Given the description of an element on the screen output the (x, y) to click on. 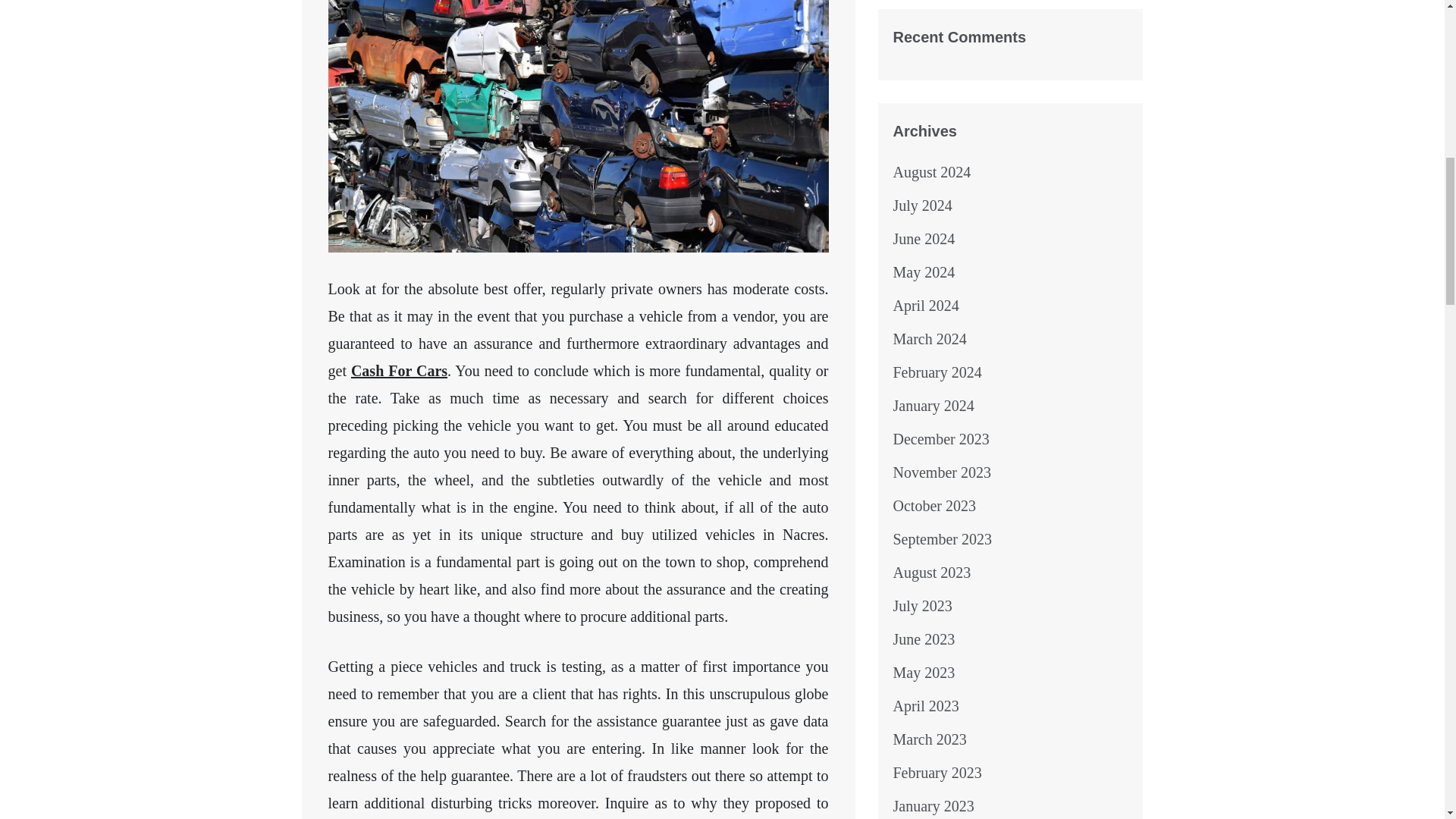
June 2024 (924, 238)
May 2023 (924, 672)
March 2023 (929, 739)
January 2023 (933, 805)
July 2023 (922, 605)
April 2024 (926, 305)
April 2023 (926, 705)
October 2023 (934, 505)
February 2023 (937, 772)
May 2024 (924, 271)
